Given the description of an element on the screen output the (x, y) to click on. 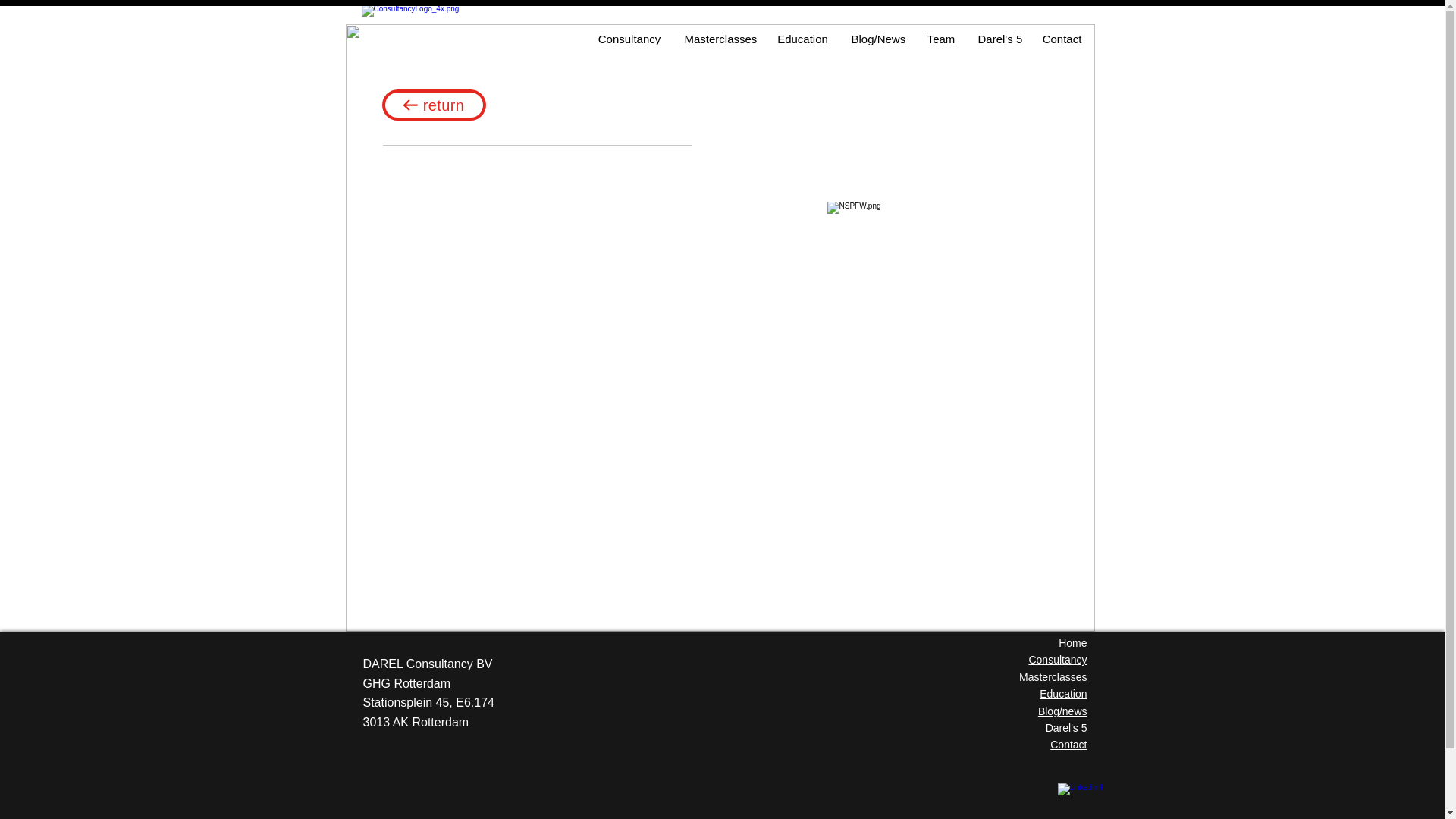
Masterclasses (1052, 676)
Education (1062, 693)
Consultancy (1056, 659)
Contact (1061, 39)
Consultancy (628, 39)
Darel's 5 (1066, 727)
return (433, 104)
Team (940, 39)
Masterclasses (718, 39)
Contact (1067, 744)
